Given the description of an element on the screen output the (x, y) to click on. 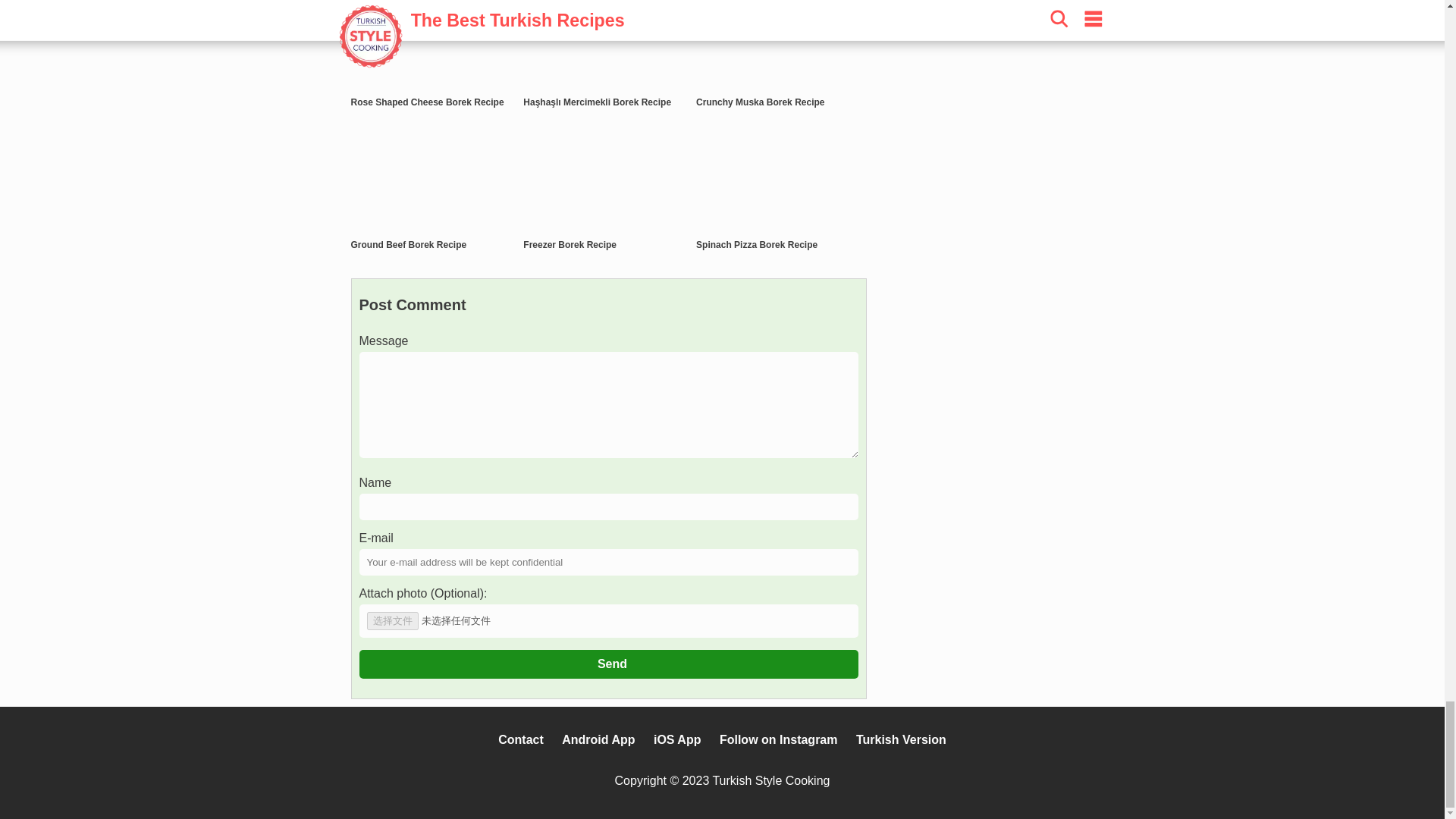
Freezer Borek Recipe (568, 244)
Send (609, 664)
Crunchy Muska Borek Recipe (759, 102)
Rose Shaped Cheese Borek Recipe (426, 102)
Send (609, 664)
Spinach Pizza Borek Recipe (755, 244)
Ground Beef Borek Recipe (407, 244)
